Given the description of an element on the screen output the (x, y) to click on. 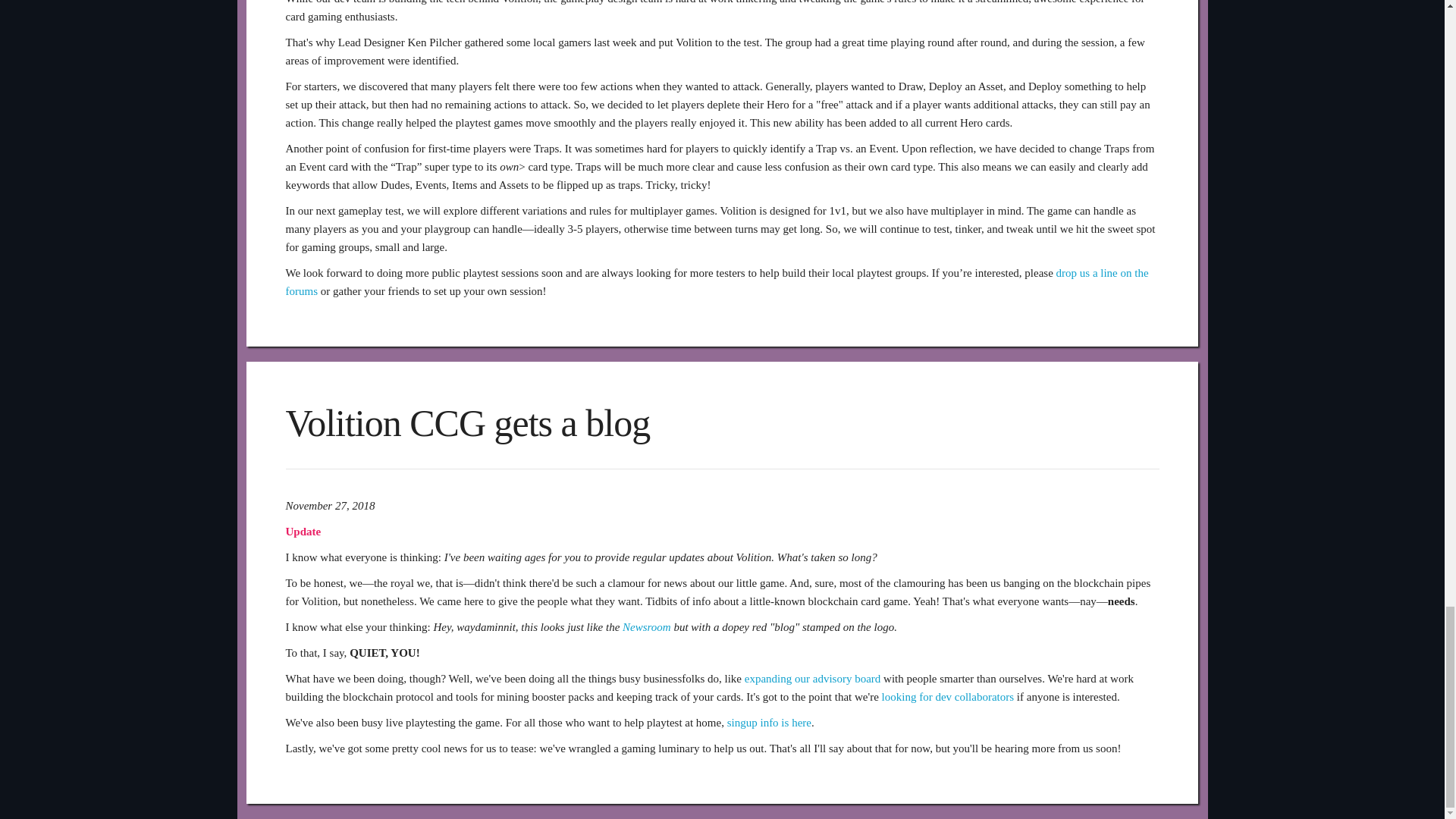
drop us a line on the forums (716, 281)
expanding our advisory board (812, 678)
singup info is here (768, 722)
looking for dev collaborators (948, 696)
Newsroom (647, 626)
